Given the description of an element on the screen output the (x, y) to click on. 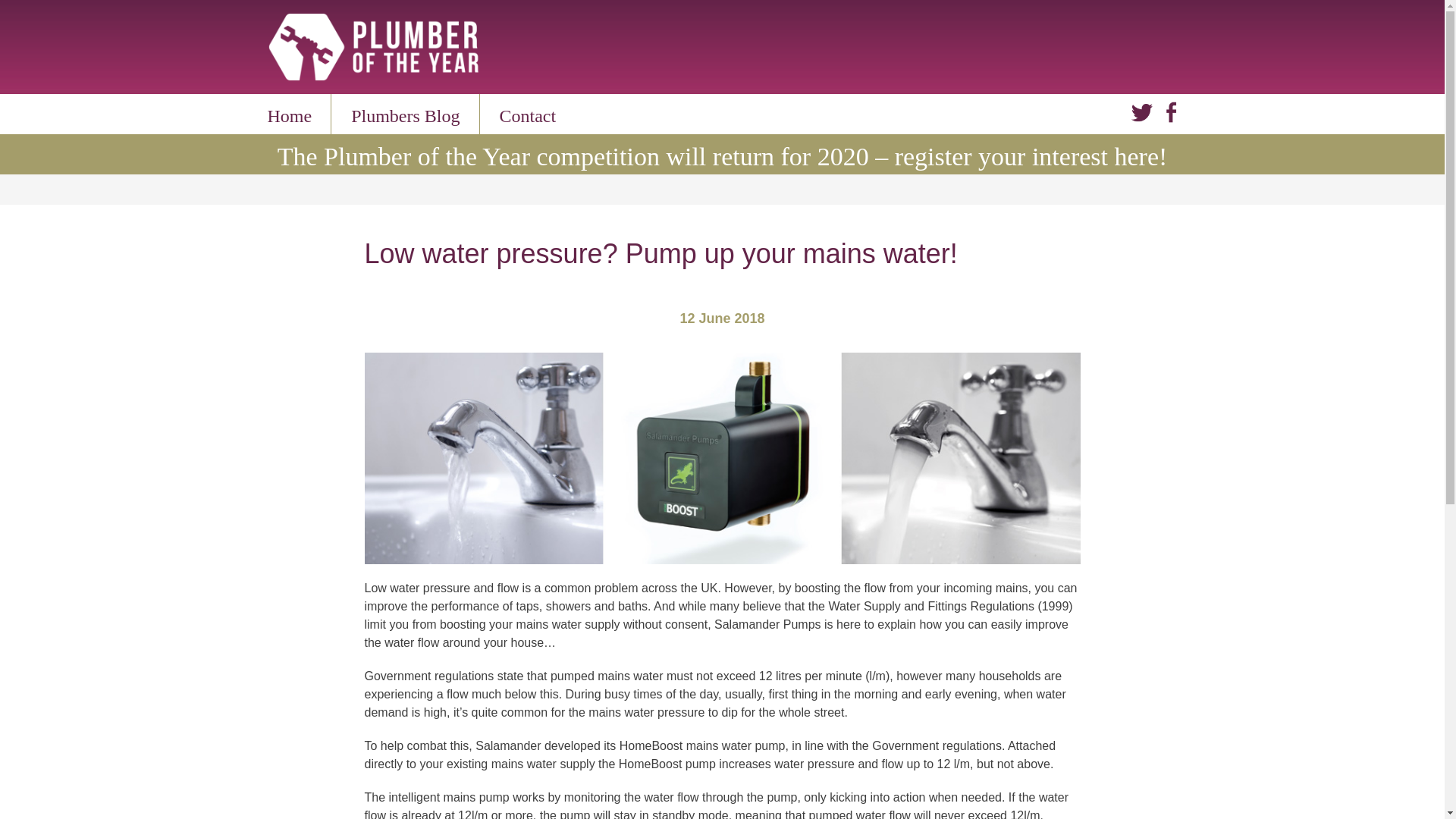
Home (288, 116)
here! (1140, 156)
Contact (527, 116)
Plumbers Blog (405, 116)
